Given the description of an element on the screen output the (x, y) to click on. 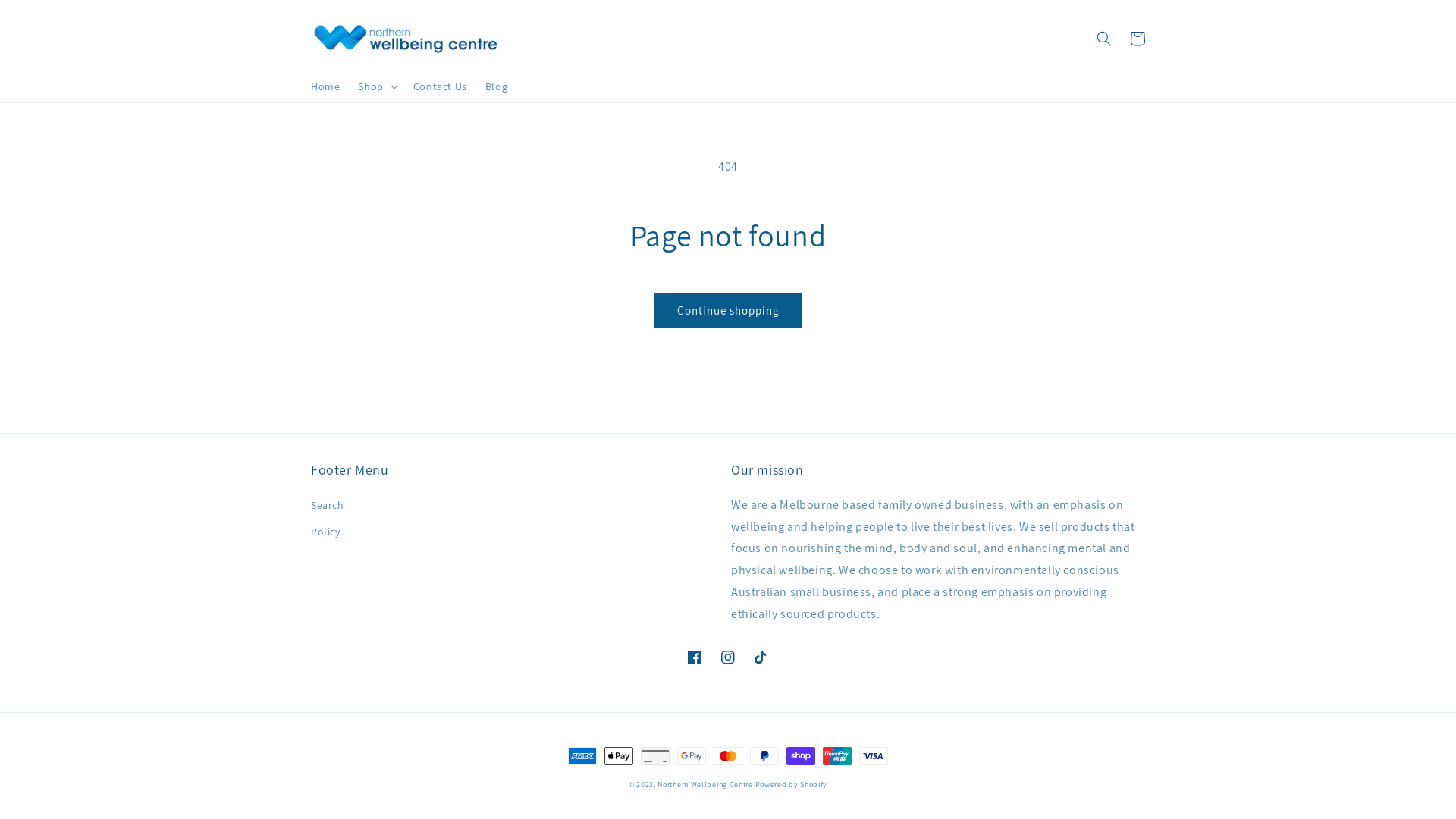
Blog Element type: text (496, 85)
Home Element type: text (324, 85)
Powered by Shopify Element type: text (791, 784)
Northern Wellbeing Centre Element type: text (705, 784)
Search Element type: text (327, 506)
Facebook Element type: text (694, 657)
TikTok Element type: text (761, 657)
Policy Element type: text (325, 531)
Instagram Element type: text (727, 657)
Contact Us Element type: text (440, 85)
Cart Element type: text (1137, 38)
Continue shopping Element type: text (727, 310)
